Given the description of an element on the screen output the (x, y) to click on. 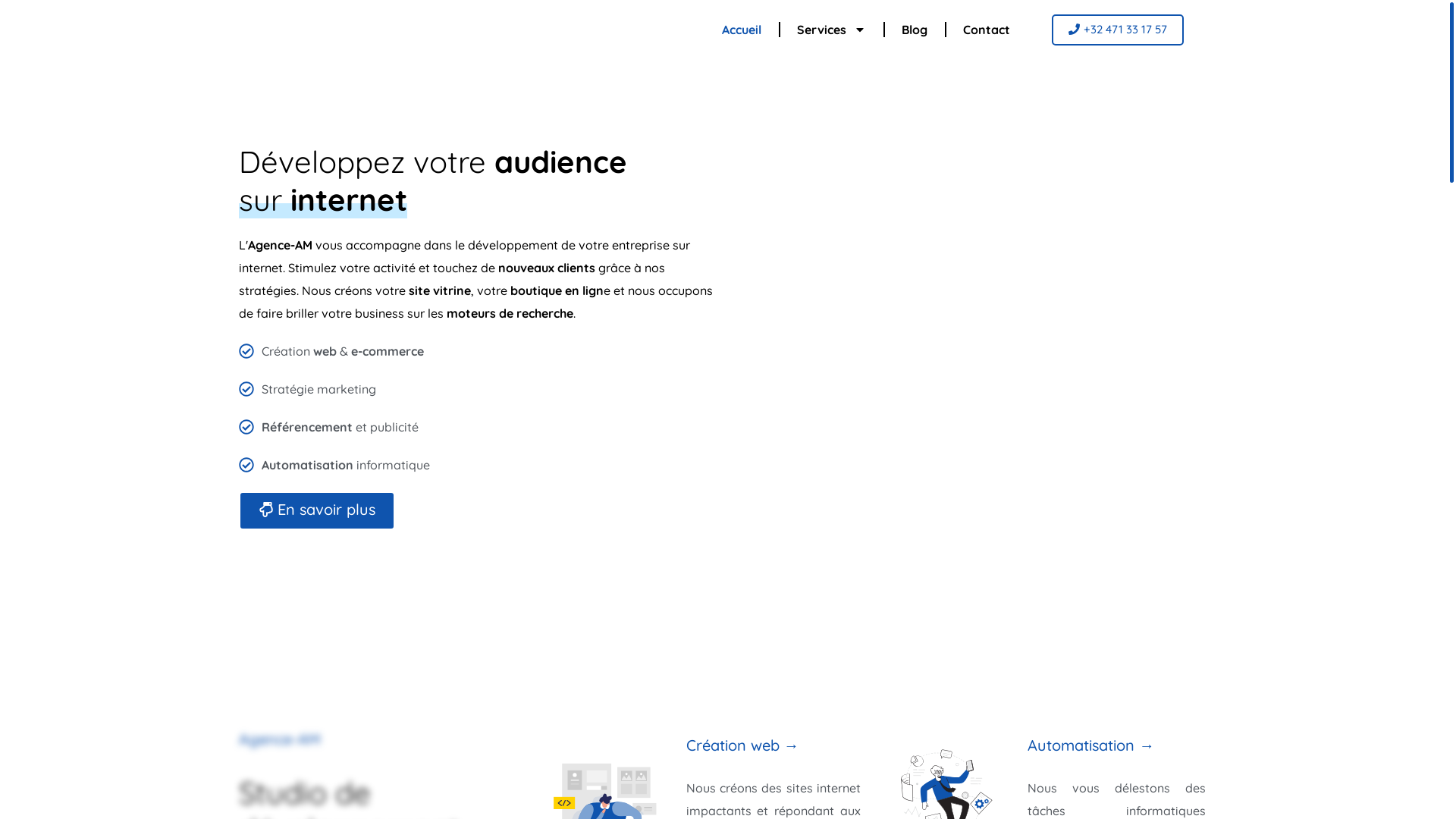
+32 471 33 17 57 Element type: text (1117, 28)
Blog Element type: text (914, 29)
logoam Element type: hover (294, 29)
Contact Element type: text (986, 29)
En savoir plus Element type: text (316, 510)
Accueil Element type: text (741, 29)
Services Element type: text (831, 29)
